Given the description of an element on the screen output the (x, y) to click on. 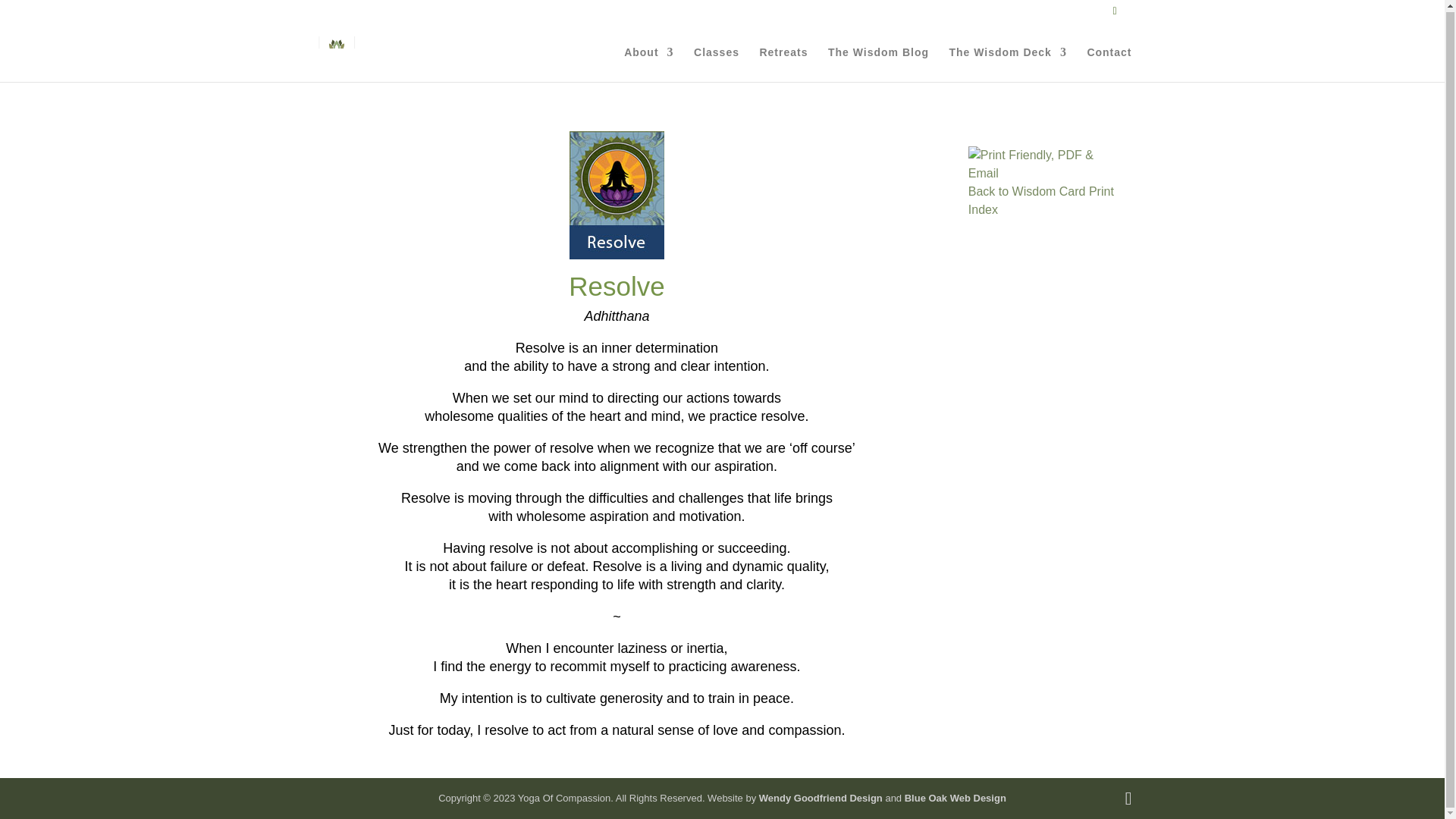
The Wisdom Deck (1007, 63)
Blue Oak Web Design (955, 797)
About (648, 63)
Contact (1108, 63)
Back to Wisdom Card Print Index (1040, 200)
Classes (716, 63)
Retreats (783, 63)
Wendy Goodfriend Design (820, 797)
The Wisdom Blog (878, 63)
